Given the description of an element on the screen output the (x, y) to click on. 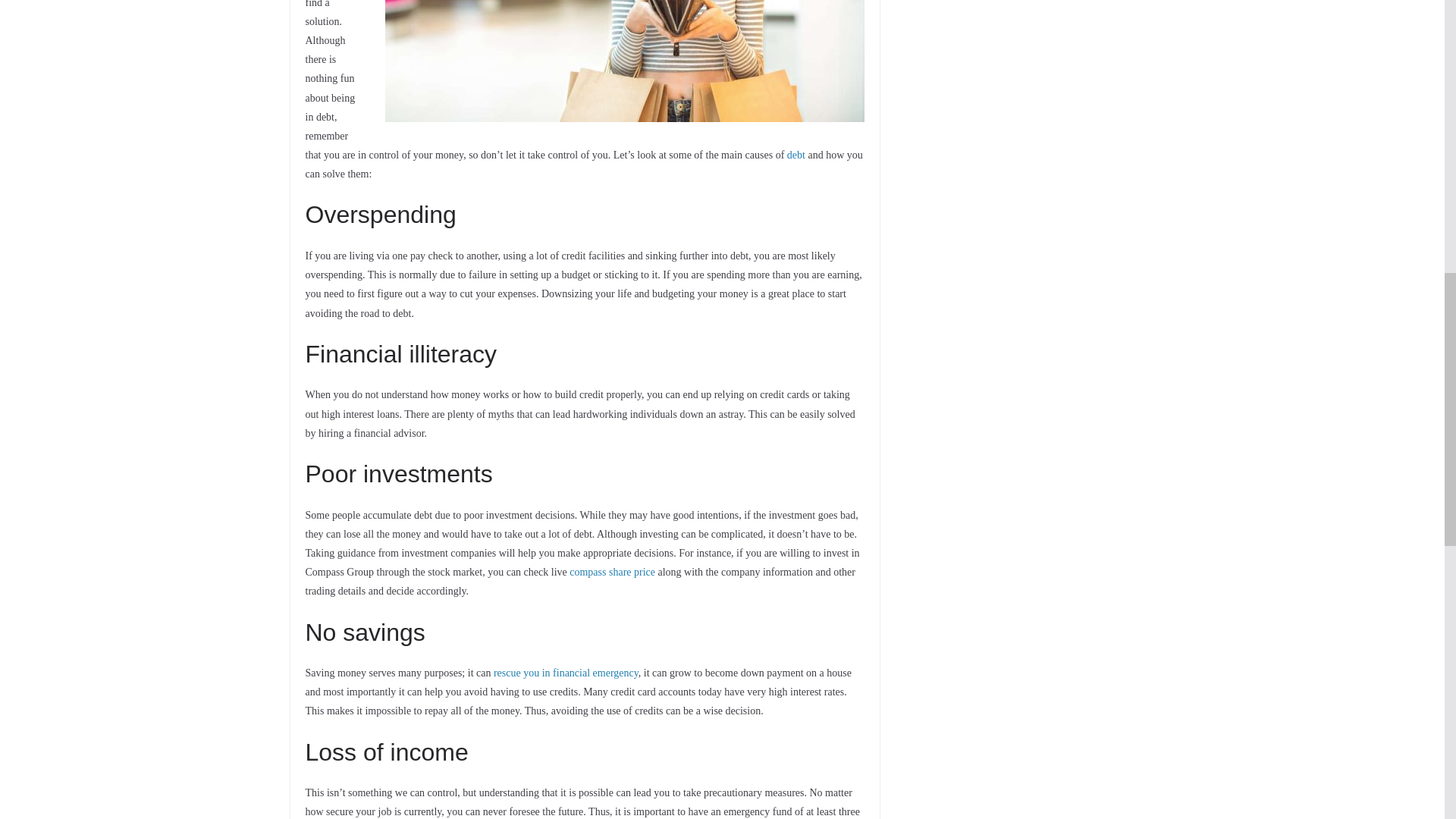
compass share price (612, 572)
debt (796, 154)
rescue you in financial emergency (566, 672)
